Given the description of an element on the screen output the (x, y) to click on. 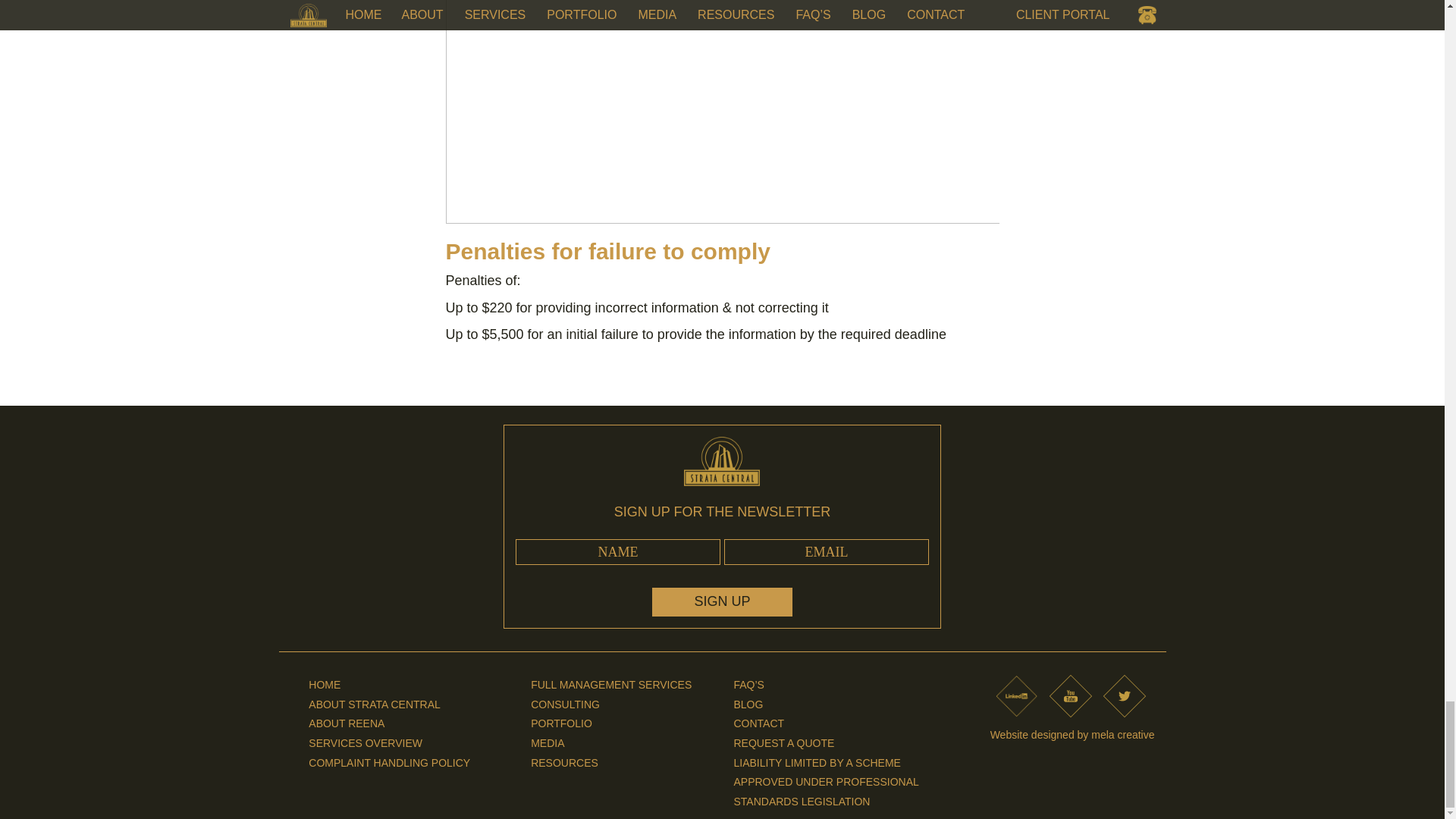
SIGN UP (722, 602)
